Given the description of an element on the screen output the (x, y) to click on. 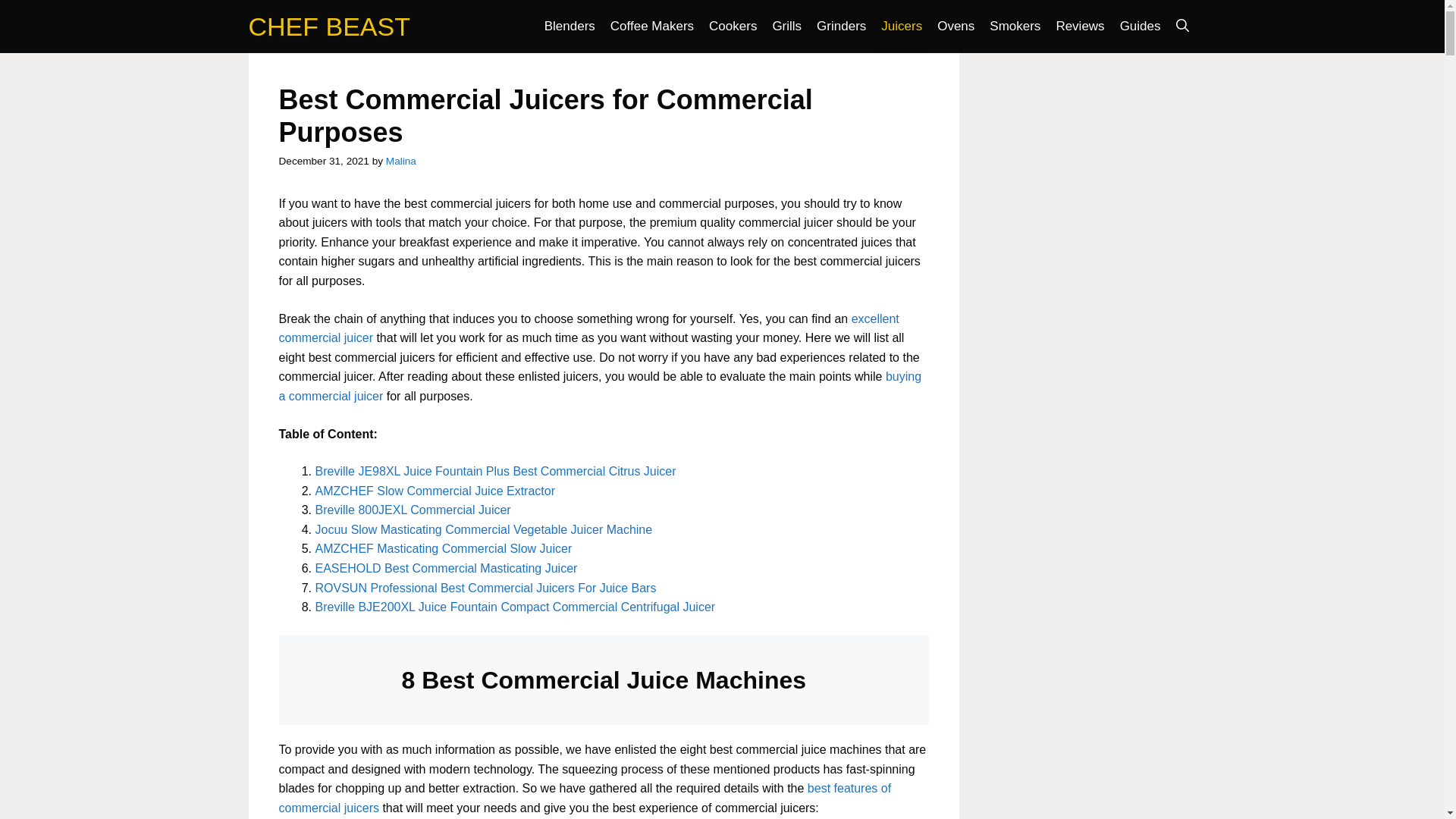
best features of commercial juicers (585, 798)
Guides (1140, 26)
ROVSUN Professional Best Commercial Juicers For Juice Bars (485, 587)
Jocuu Slow Masticating Commercial Vegetable Juicer Machine (483, 529)
AMZCHEF Slow Commercial Juice Extractor (435, 490)
buying a commercial juicer (600, 386)
Coffee Makers (651, 26)
Reviews (1080, 26)
Ovens (955, 26)
